Given the description of an element on the screen output the (x, y) to click on. 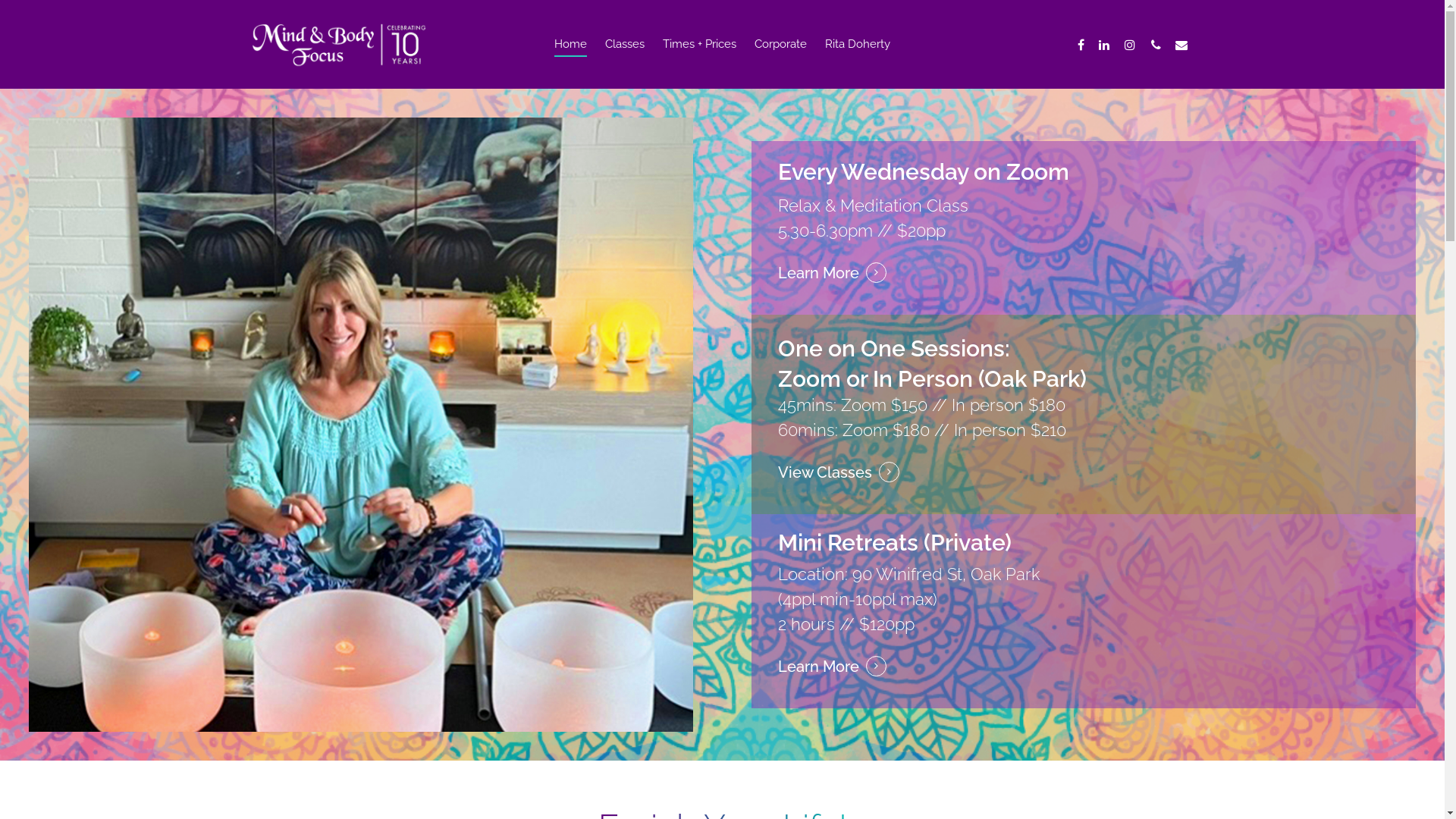
Home Element type: text (570, 55)
Learn More Element type: text (832, 272)
Relax & Meditation Class
5.30-6.30pm // $20pp Element type: text (873, 217)
Times + Prices Element type: text (699, 55)
View Classes Element type: text (838, 472)
Rita Doherty Element type: text (857, 55)
Corporate Element type: text (780, 55)
Learn More Element type: text (832, 666)
Classes Element type: text (624, 55)
